Given the description of an element on the screen output the (x, y) to click on. 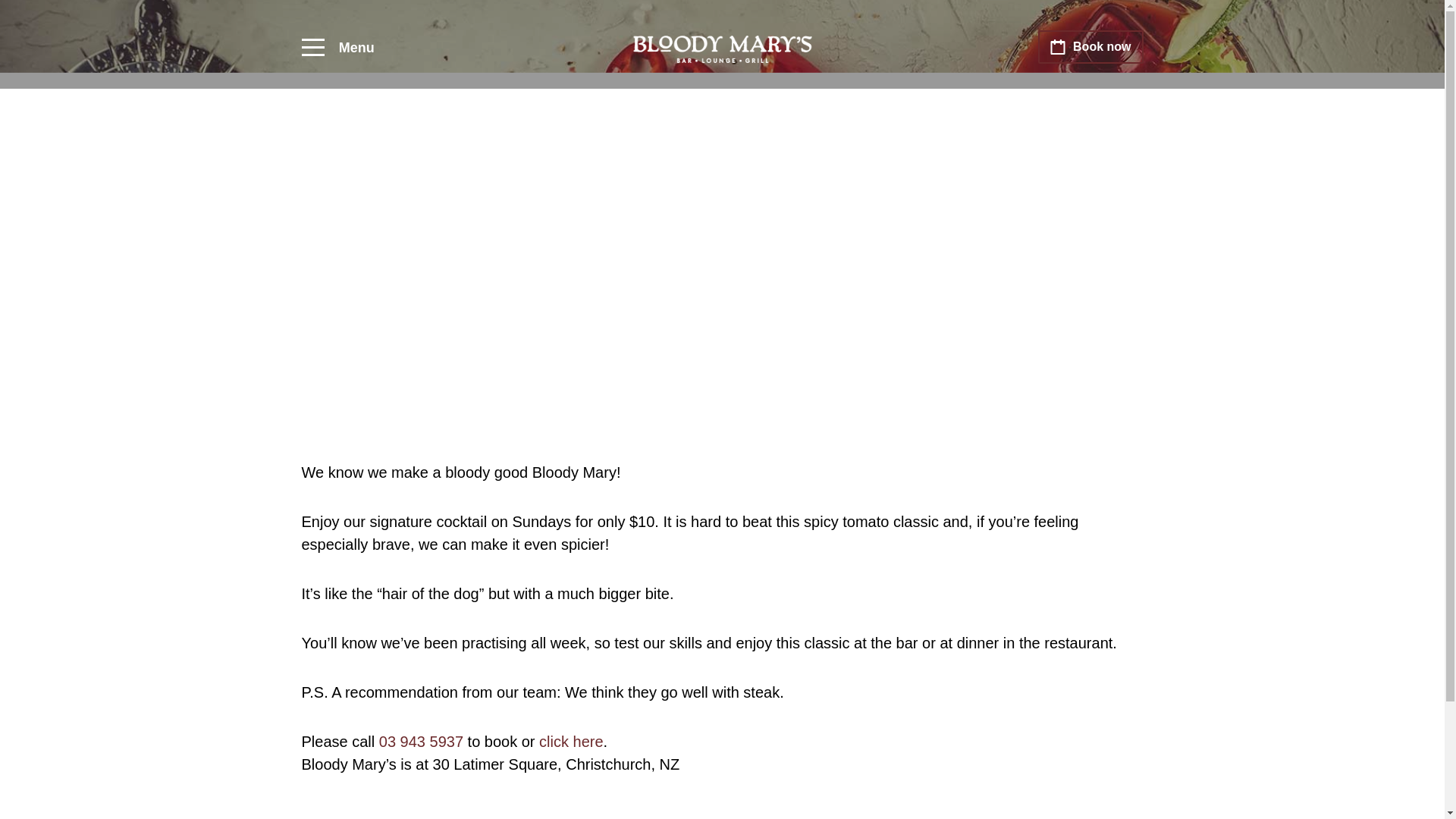
03 943 5937 (420, 741)
Book now (1090, 46)
click here (570, 741)
Menu (337, 48)
